Given the description of an element on the screen output the (x, y) to click on. 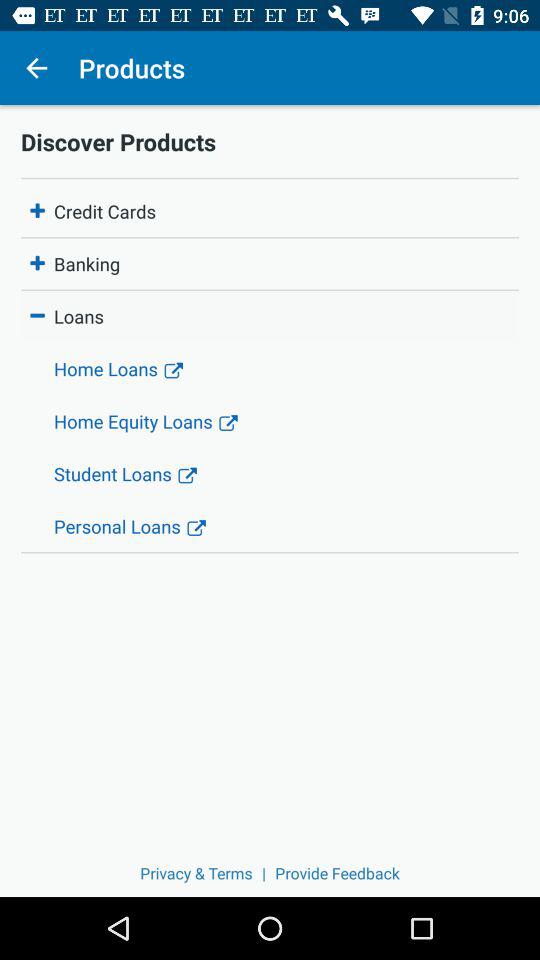
turn on app to the left of products (36, 68)
